Given the description of an element on the screen output the (x, y) to click on. 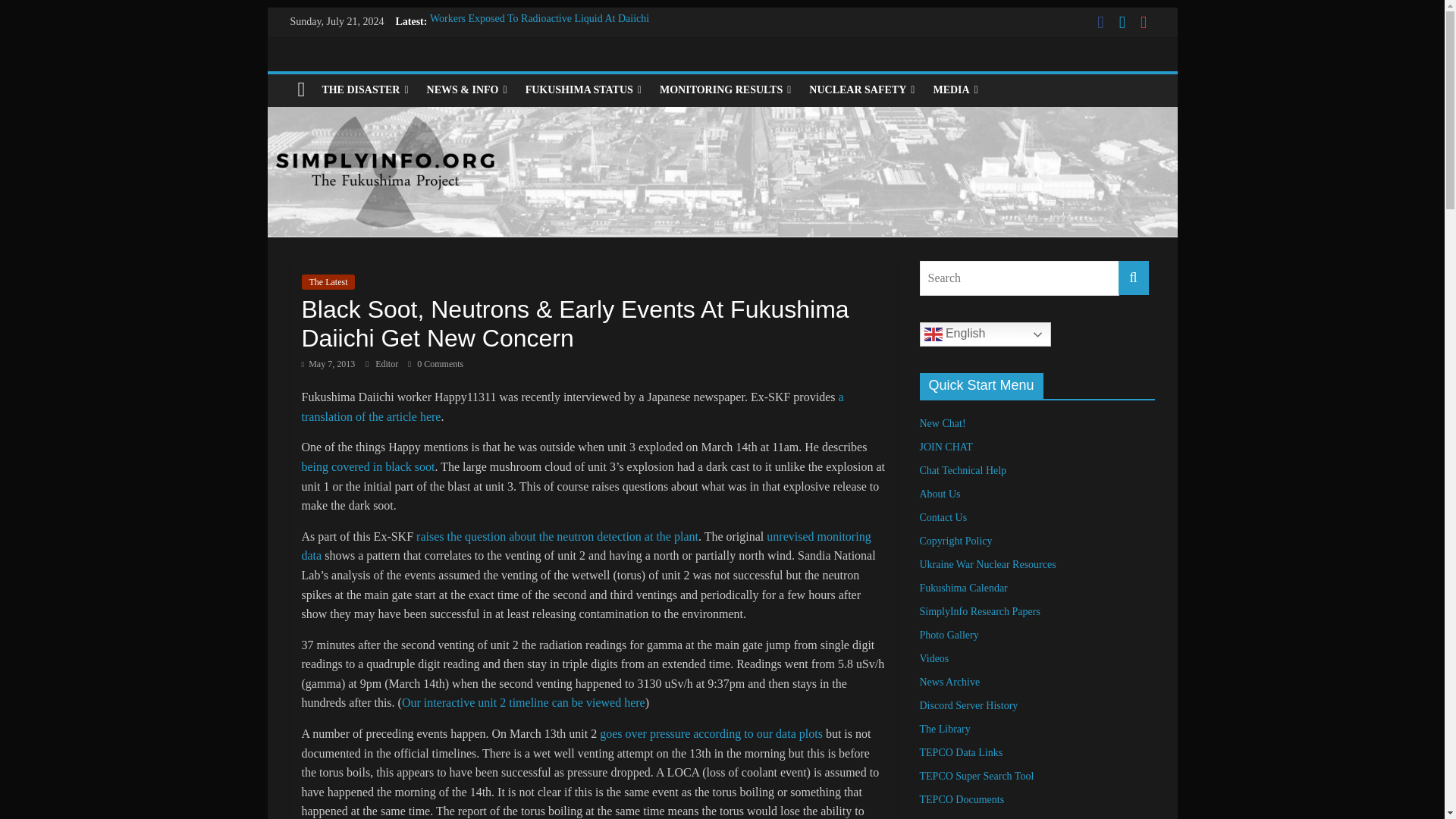
SimplyInfo.org: Nuclear News Roundup 11.5.23 (533, 86)
SimplyInfo.org: 13th Anniversary Report Fukushima Daiichi (558, 35)
4:10 am (328, 363)
SimplyInfo.org: Nuclear News Roundup 11.5.23 (533, 86)
THE DISASTER (364, 90)
SimplyInfo.org: 13th Anniversary Report Fukushima Daiichi (558, 35)
Editor (387, 363)
Workers Exposed To Radioactive Liquid At Daiichi (539, 18)
Workers Exposed To Radioactive Liquid At Daiichi (539, 18)
